Given the description of an element on the screen output the (x, y) to click on. 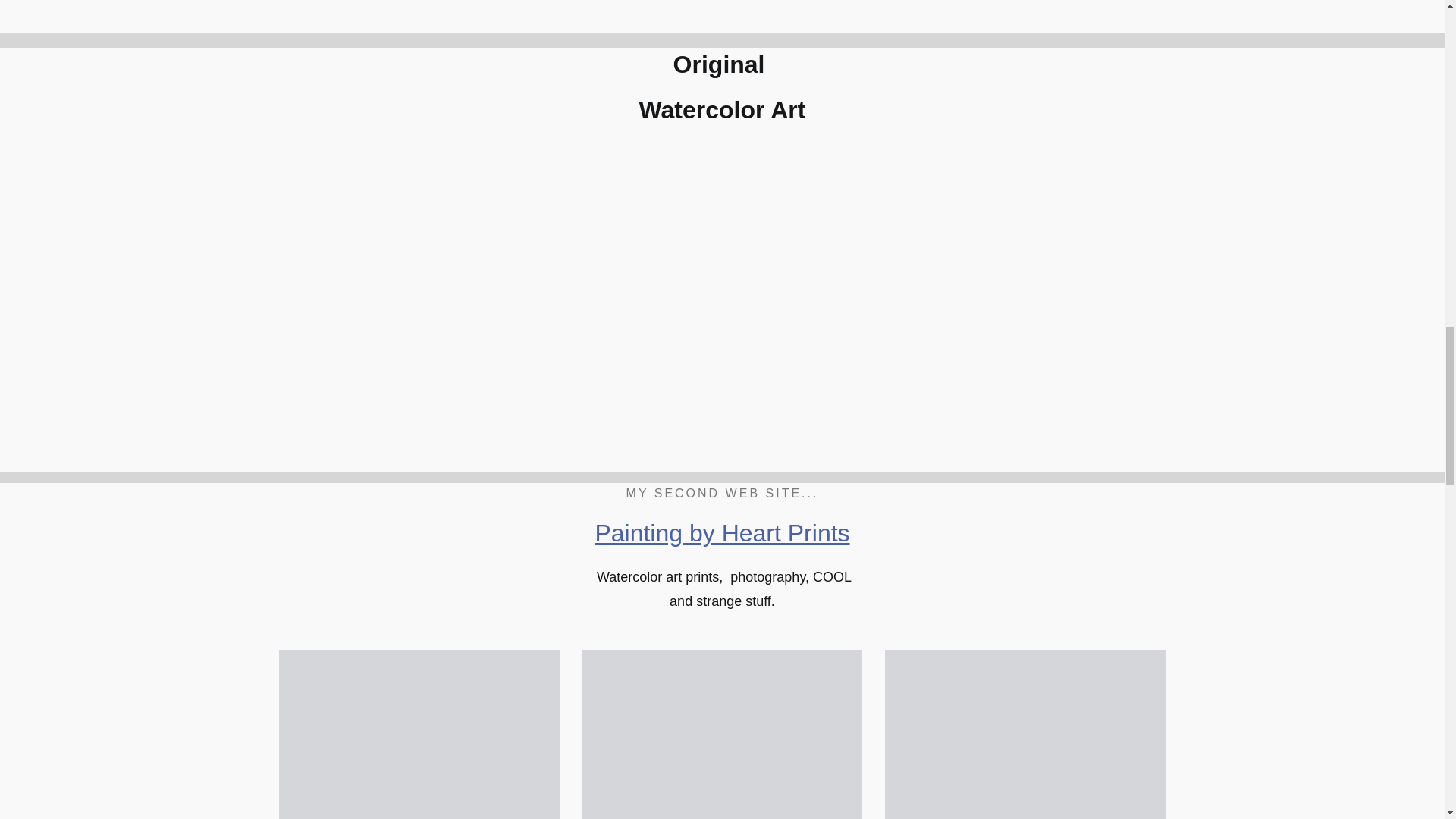
Painting by Heart Prints (721, 533)
